Given the description of an element on the screen output the (x, y) to click on. 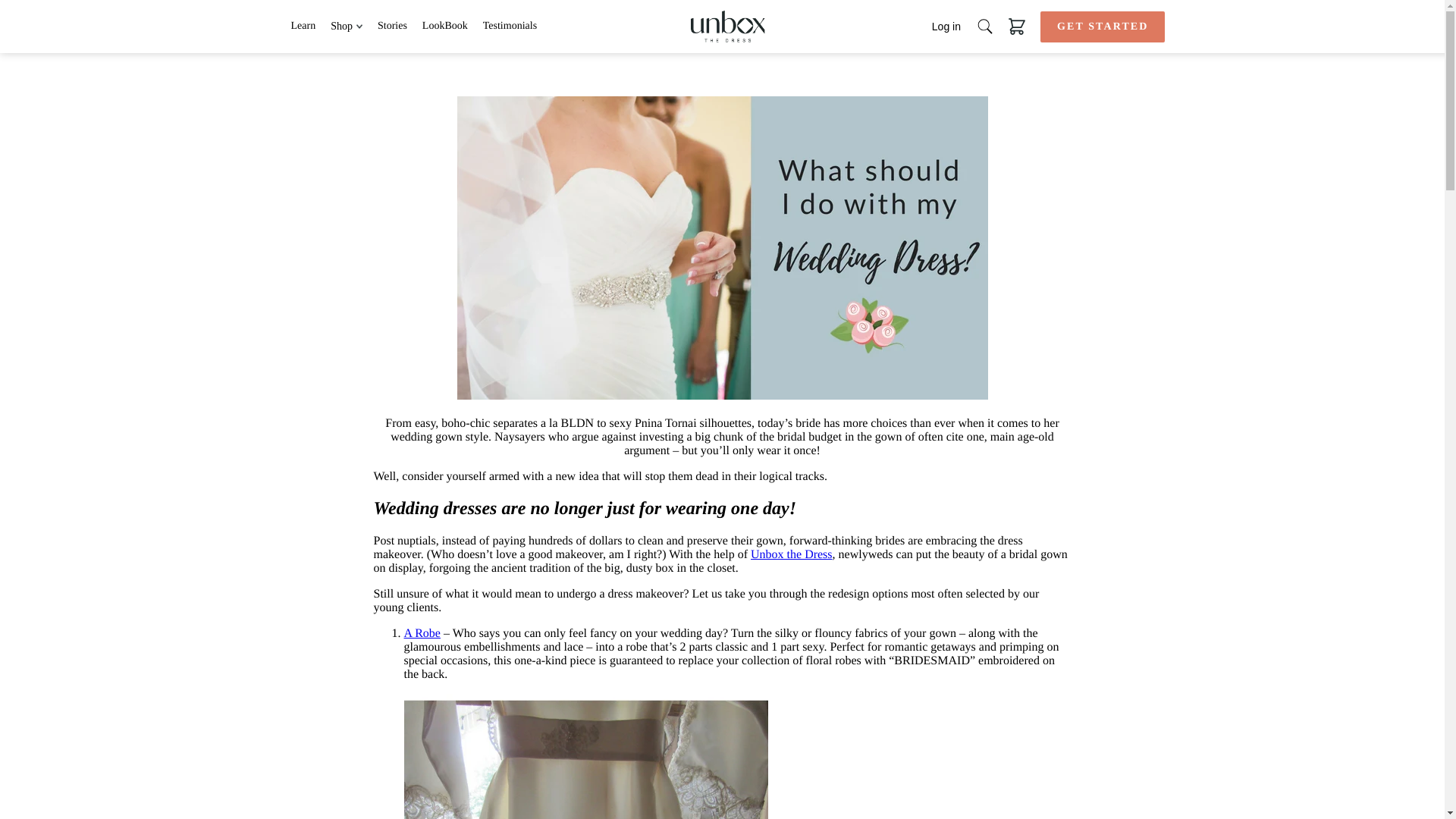
How it Works Unbox the Dress (791, 554)
Log in (945, 26)
Stories (392, 26)
Testimonials (510, 26)
I Do Wedding Day Robe  (421, 633)
GET STARTED (1103, 25)
LookBook (444, 26)
Learn (303, 26)
